Given the description of an element on the screen output the (x, y) to click on. 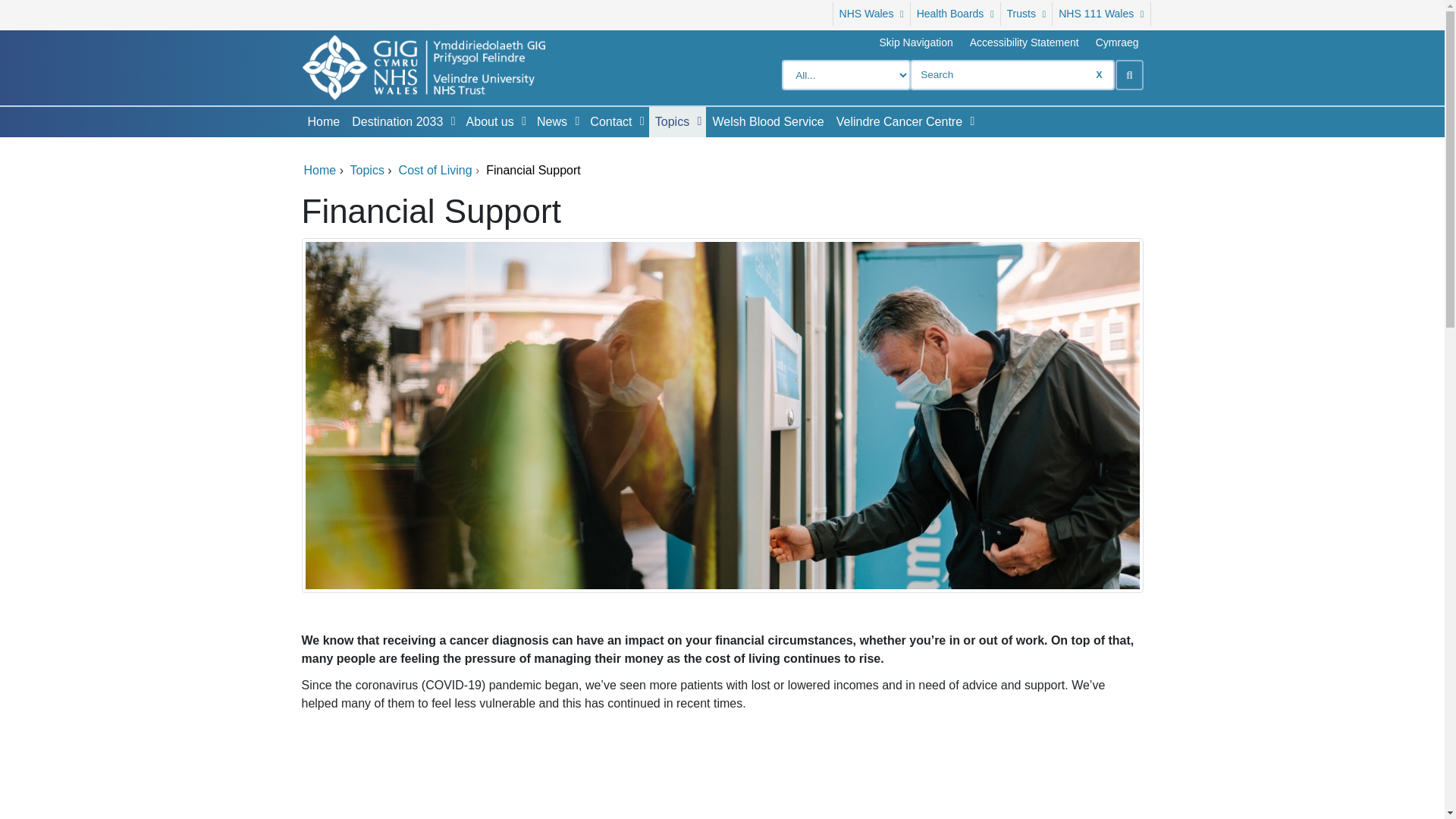
Search (1128, 74)
Destination 2033 (394, 122)
Trusts (1026, 13)
Show Submenu For About us (523, 120)
Show Submenu For Destination 2033 (453, 120)
Skip Navigation (914, 42)
Show Submenu For Contact (641, 120)
NHS Wales (871, 13)
News (549, 122)
Accessibility Statement (1024, 42)
Show Submenu For News (576, 120)
Contact (607, 122)
Home (323, 122)
Health Boards (955, 13)
